Given the description of an element on the screen output the (x, y) to click on. 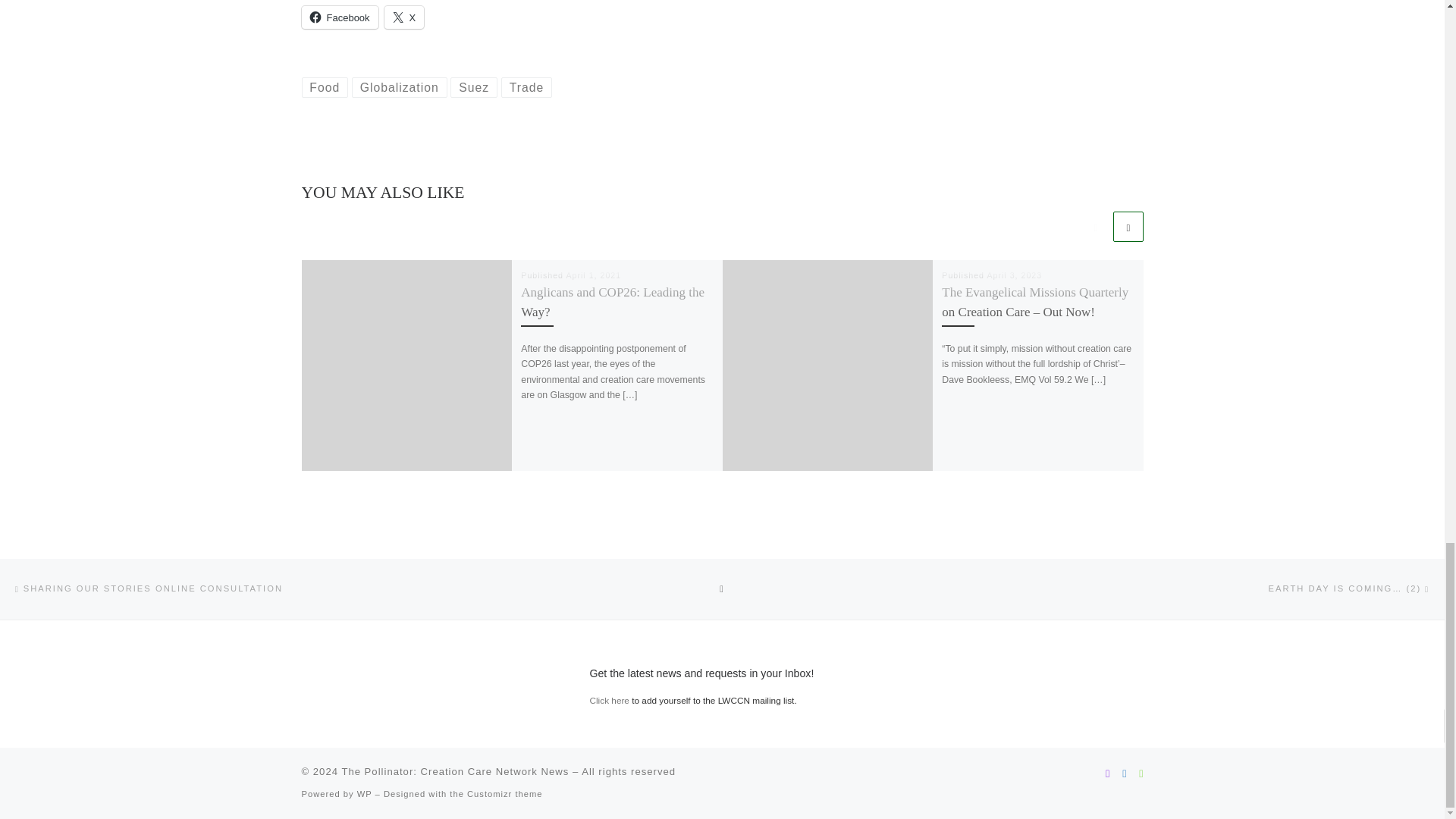
Previous related articles (1094, 225)
Food (325, 87)
Trade (525, 87)
View all posts in Trade (525, 87)
Next related articles (1127, 225)
Click to share on Facebook (339, 16)
View all posts in Suez (473, 87)
X (404, 16)
Globalization (399, 87)
Suez (473, 87)
View all posts in Globalization (399, 87)
Facebook (339, 16)
View all posts in Food (325, 87)
Click to share on X (404, 16)
Anglicans and COP26: Leading the Way? (612, 302)
